Given the description of an element on the screen output the (x, y) to click on. 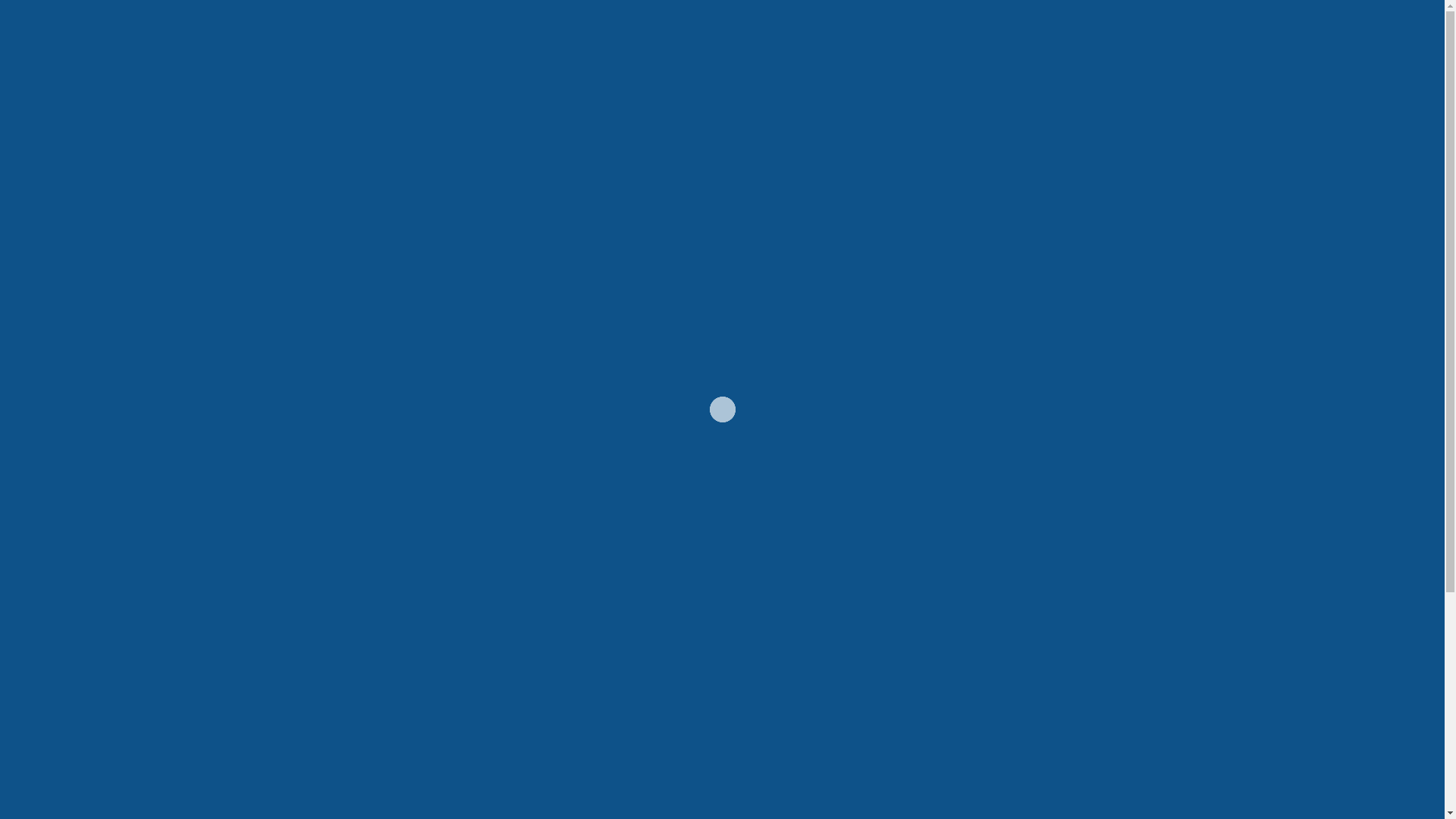
Go to homepage Element type: text (722, 412)
contact us Element type: text (847, 353)
A propos du BABM Element type: text (839, 72)
Devenir membre Element type: text (1032, 72)
Home Element type: text (749, 72)
Contact us Element type: text (722, 676)
Contact Element type: text (1122, 72)
Membres Element type: text (941, 72)
Member Zone Element type: text (1052, 27)
